Given the description of an element on the screen output the (x, y) to click on. 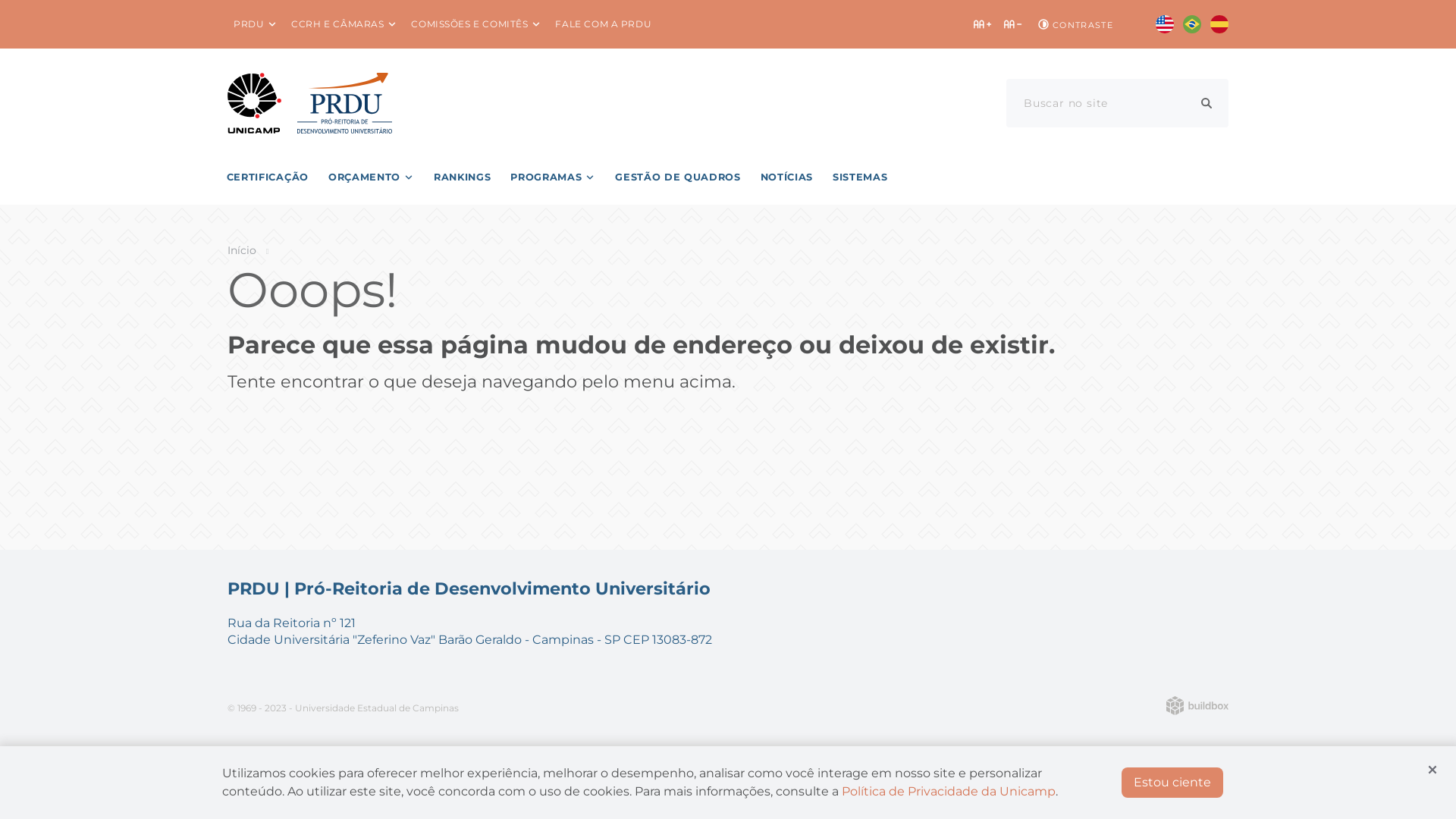
PRDU Element type: text (255, 24)
SISTEMAS Element type: text (859, 177)
RANKINGS Element type: text (461, 177)
Buscar Element type: text (1206, 103)
Estou ciente Element type: text (1172, 782)
English Element type: hover (1164, 24)
PROGRAMAS Element type: text (552, 177)
Spanish Element type: hover (1219, 24)
Diminuir fonte Element type: text (1012, 24)
Aumentar fonte Element type: text (981, 24)
Portuguese Element type: hover (1192, 24)
FALE COM A PRDU Element type: text (603, 24)
Fechar Element type: text (1432, 769)
CONTRASTE Element type: text (1073, 24)
